Given the description of an element on the screen output the (x, y) to click on. 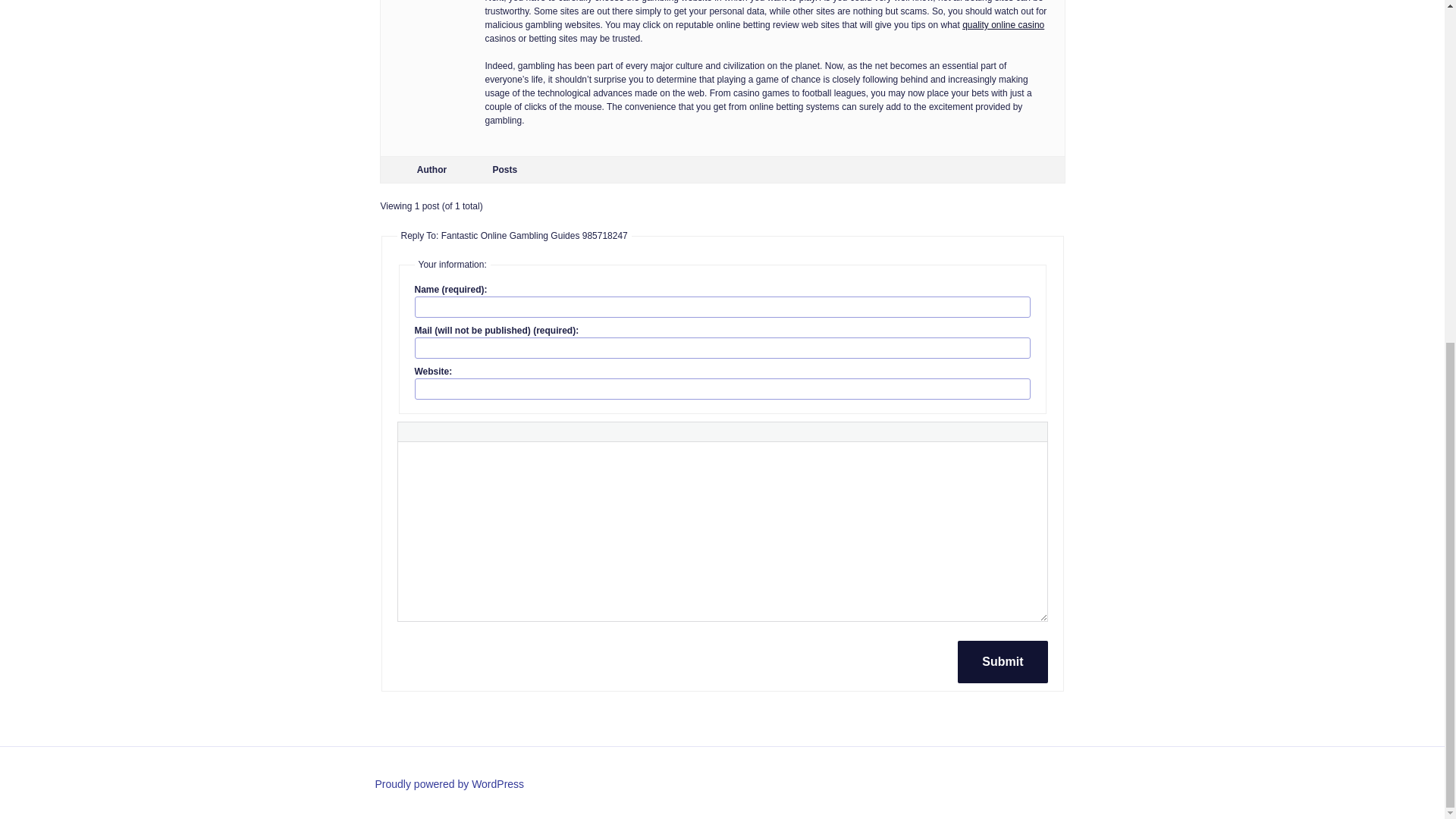
b (410, 427)
Proudly powered by WordPress (449, 784)
Submit (1002, 661)
ul (583, 427)
ol (605, 427)
li (624, 427)
code (652, 427)
quality online casino (1002, 16)
i (429, 427)
b-quote (492, 427)
Close all open tags (702, 427)
link (453, 427)
img (558, 427)
close tags (702, 427)
del (530, 427)
